Given the description of an element on the screen output the (x, y) to click on. 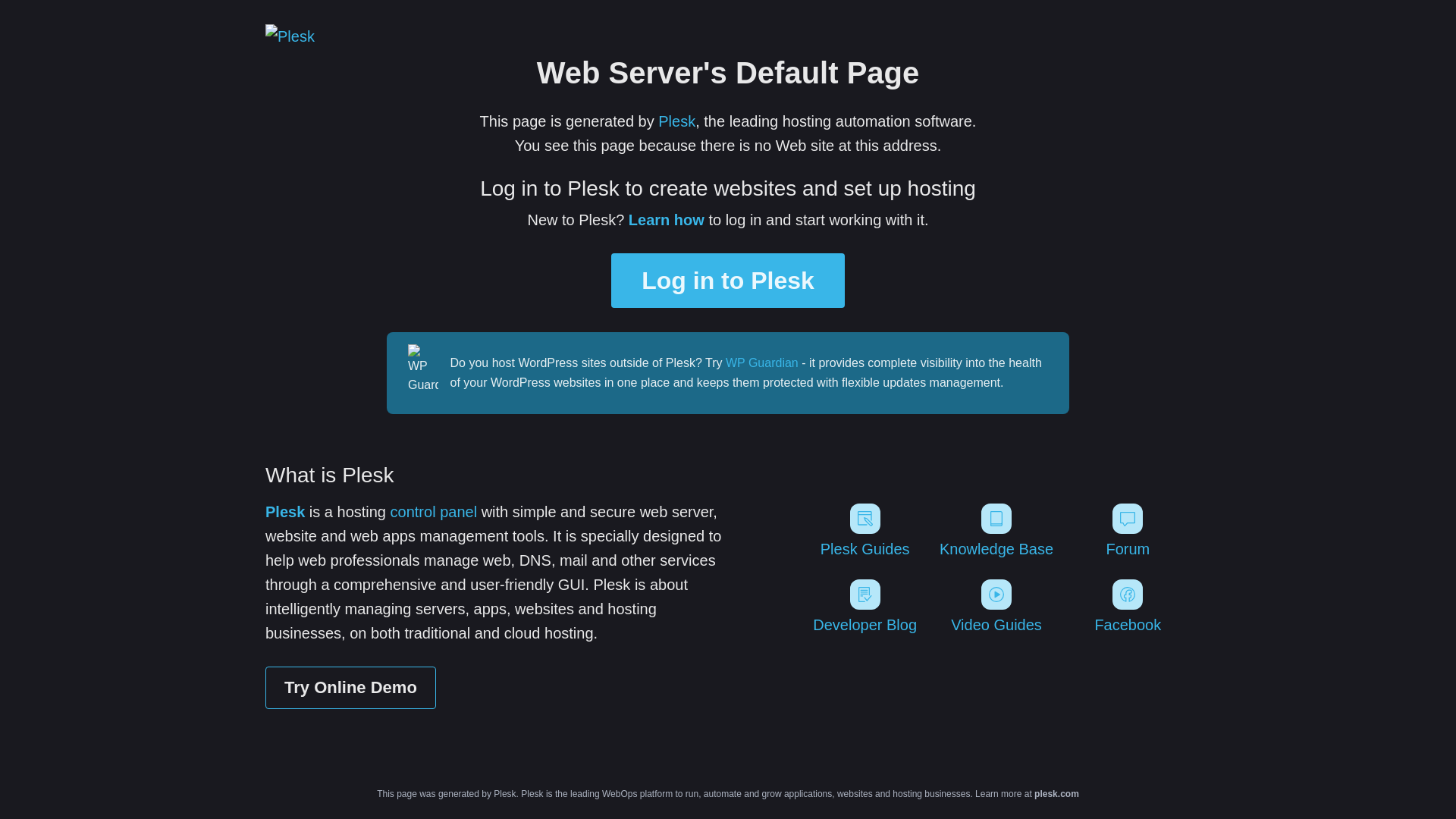
WP Guardian Element type: text (761, 362)
Plesk Element type: text (676, 120)
Knowledge Base Element type: text (995, 530)
Learn how Element type: text (666, 219)
plesk.com Element type: text (1056, 793)
Developer Blog Element type: text (864, 606)
Facebook Element type: text (1127, 606)
Log in to Plesk Element type: text (727, 280)
control panel Element type: text (433, 511)
Plesk Guides Element type: text (864, 530)
Try Online Demo Element type: text (350, 687)
Video Guides Element type: text (995, 606)
Forum Element type: text (1127, 530)
Plesk Element type: text (284, 511)
